Given the description of an element on the screen output the (x, y) to click on. 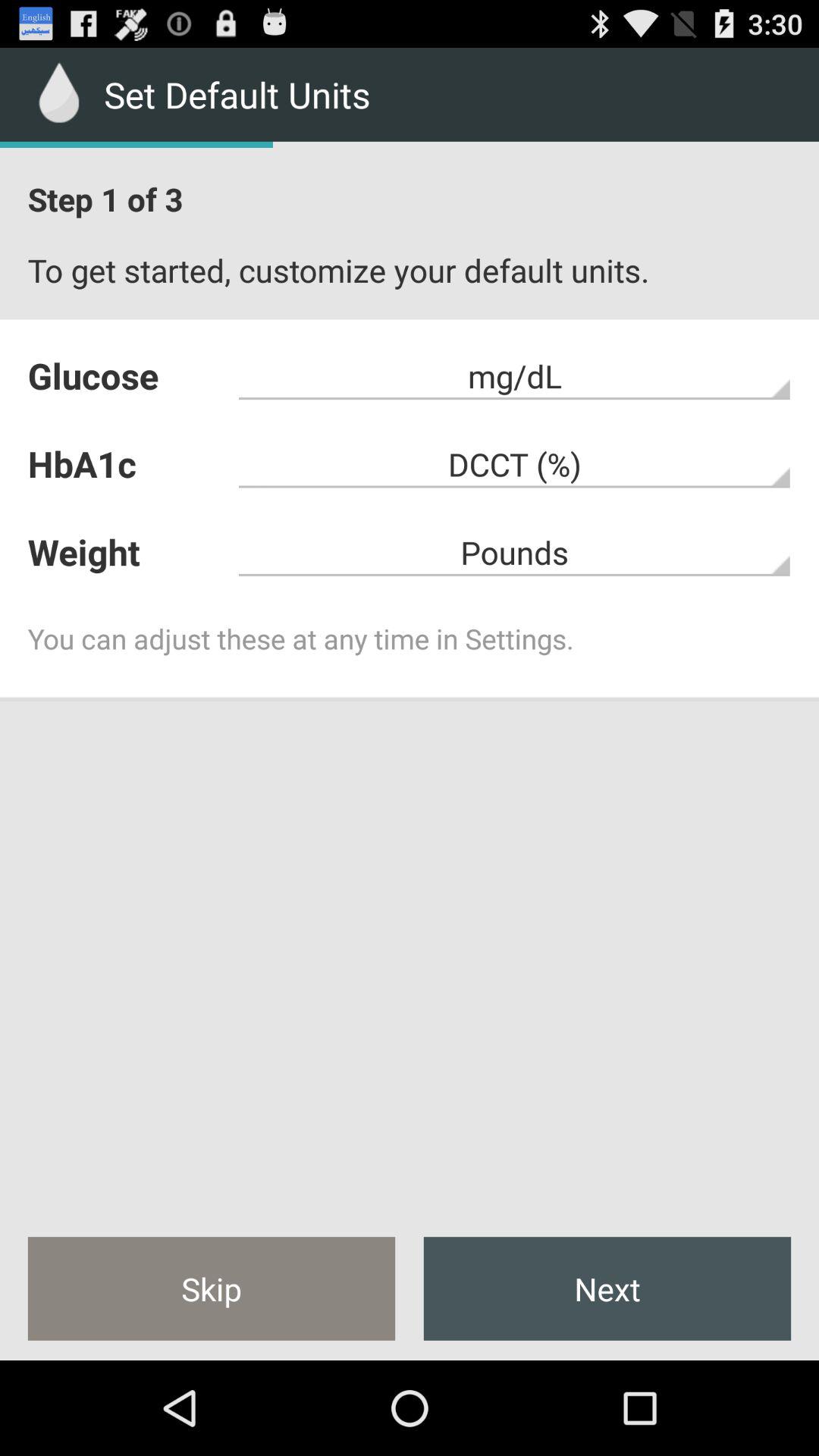
click the icon next to next (211, 1288)
